Given the description of an element on the screen output the (x, y) to click on. 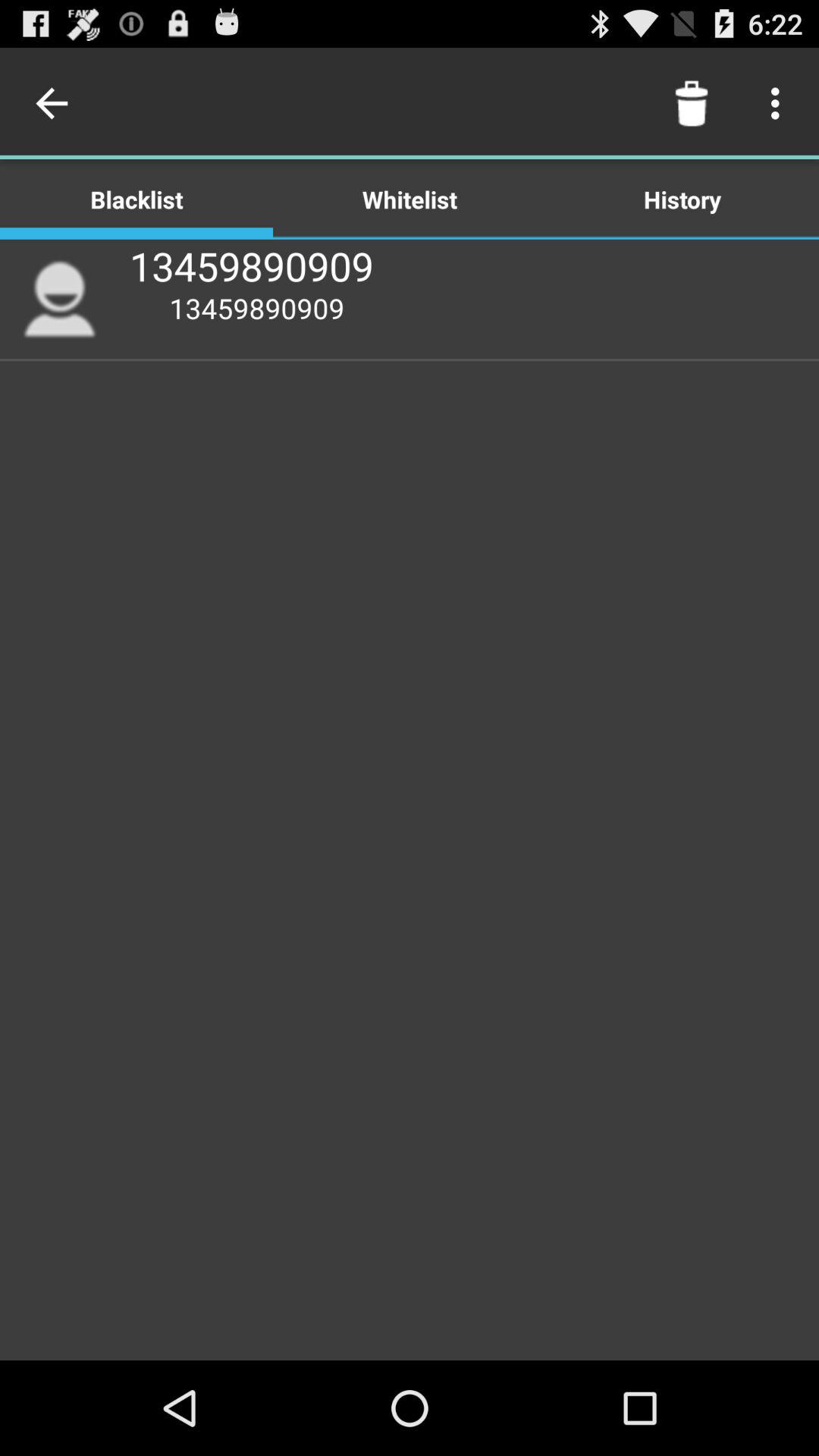
scroll to the blacklist icon (136, 199)
